Given the description of an element on the screen output the (x, y) to click on. 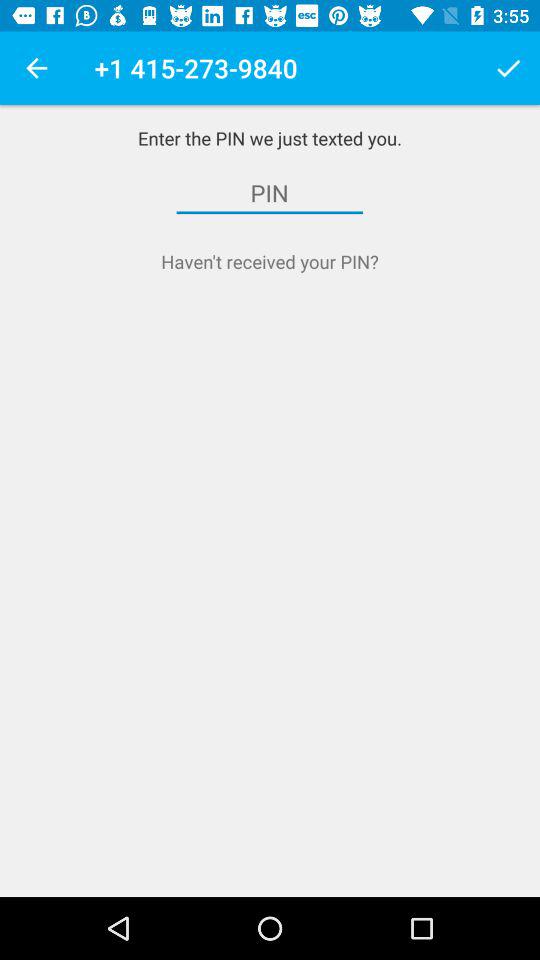
open the icon at the top right corner (508, 67)
